Given the description of an element on the screen output the (x, y) to click on. 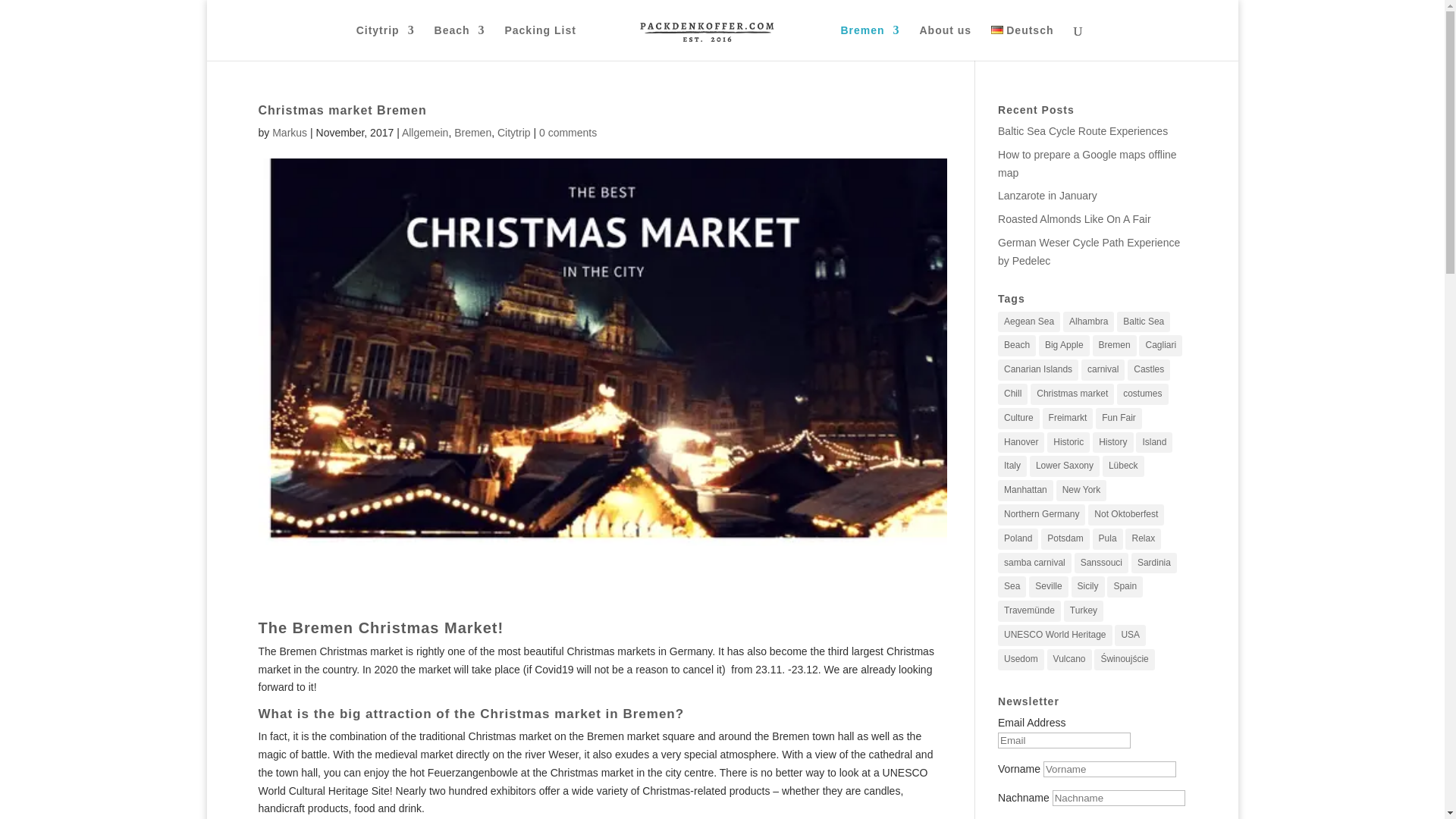
About us (944, 42)
Packing List (539, 42)
Deutsch (1021, 42)
Posts by Markus (289, 132)
Beach (458, 42)
Citytrip (385, 42)
Bremen (869, 42)
